Given the description of an element on the screen output the (x, y) to click on. 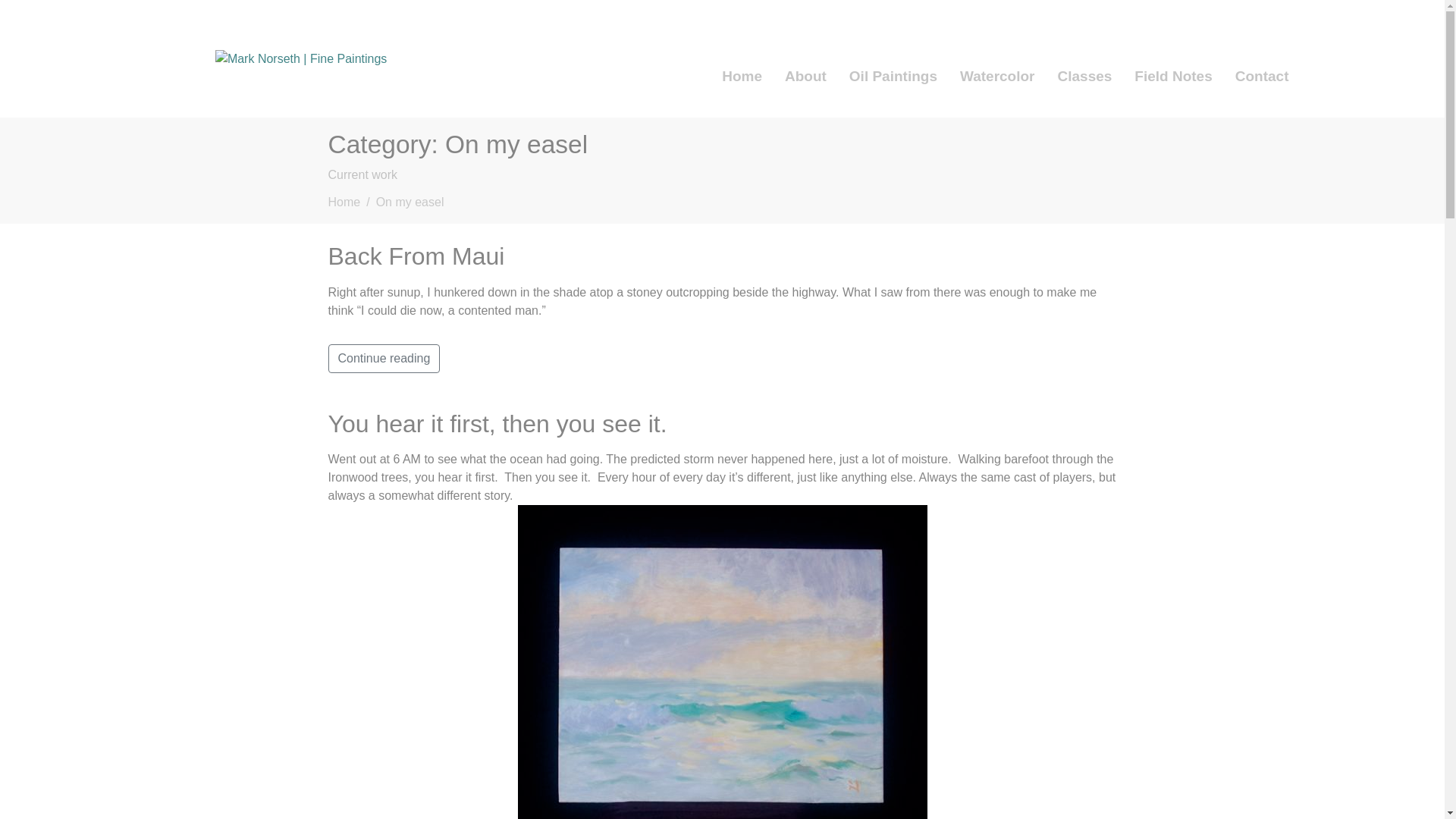
Kalama (721, 662)
Home (741, 76)
About (805, 76)
Watercolor (997, 76)
Home (343, 201)
Classes (1085, 76)
You hear it first, then you see it. (496, 423)
Continue reading (383, 358)
Contact (1262, 76)
Back From Maui (415, 256)
